Given the description of an element on the screen output the (x, y) to click on. 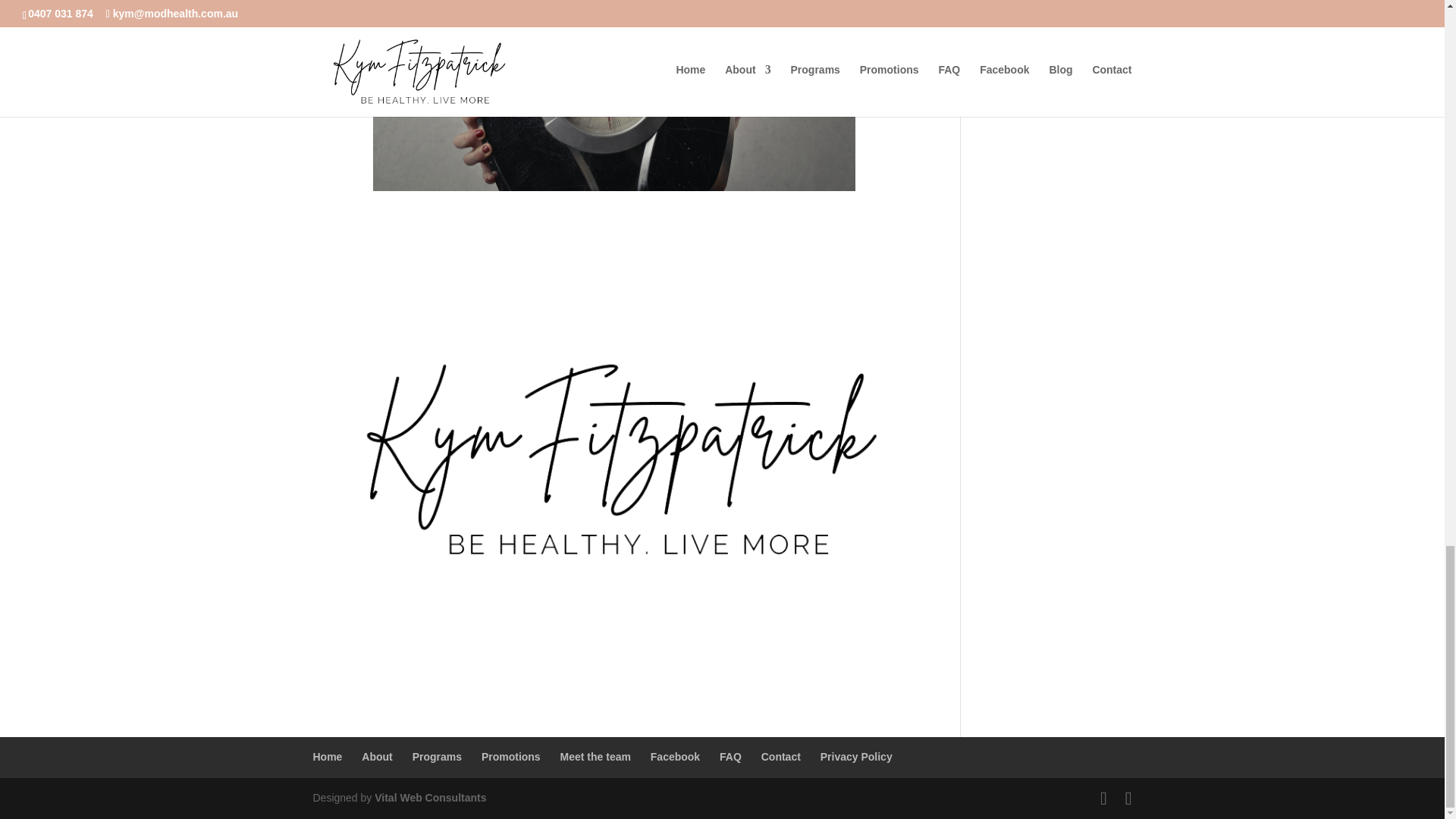
Contact (780, 756)
Home (327, 756)
Programs (436, 756)
Privacy Policy (856, 756)
Facebook (675, 756)
Vital Web Consultants (430, 797)
Meet the team (595, 756)
About (376, 756)
Promotions (510, 756)
FAQ (730, 756)
pexels-andrea-piacquadio-3775540 (614, 95)
